Given the description of an element on the screen output the (x, y) to click on. 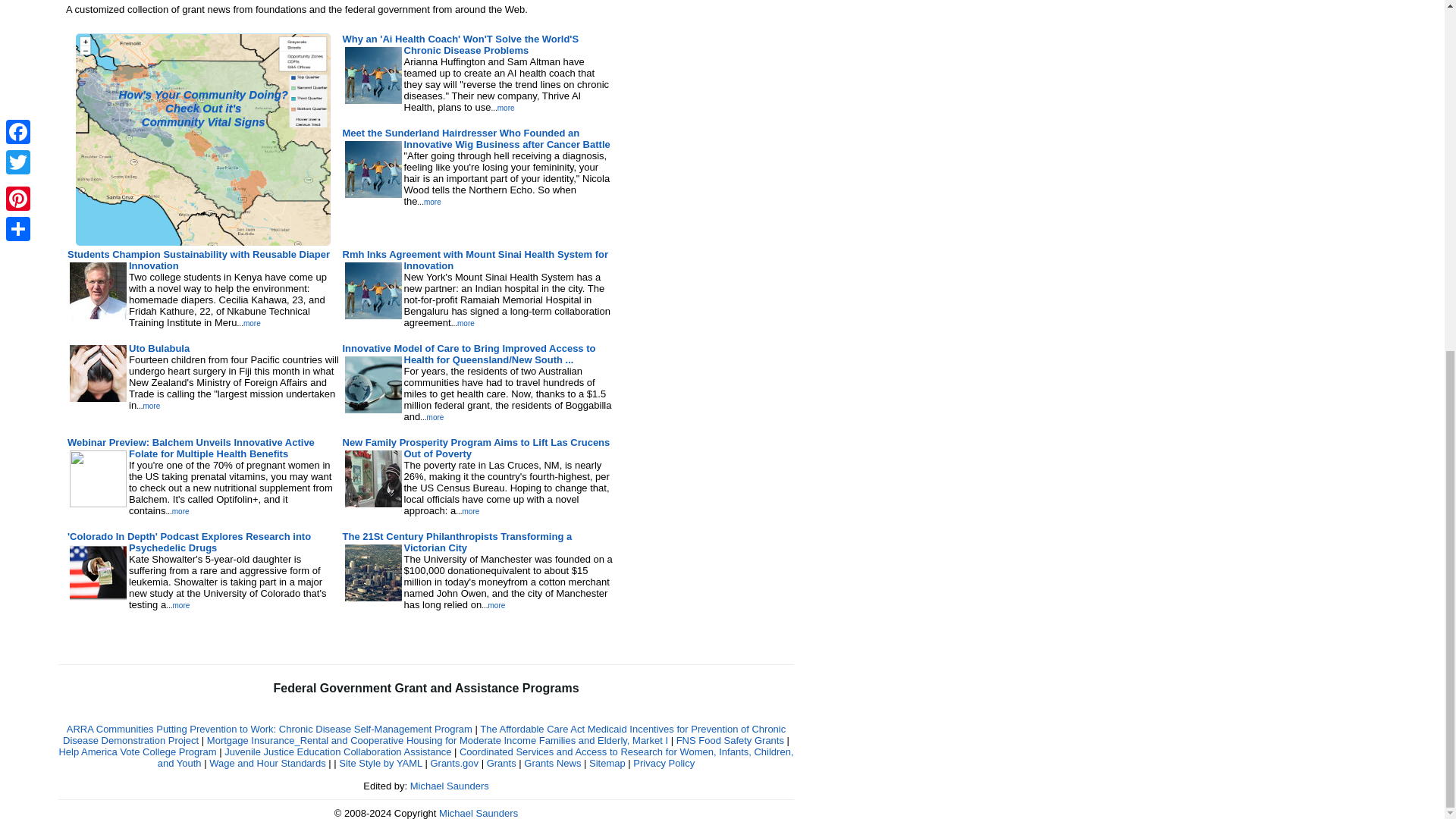
more (432, 202)
Help America Vote College Program (136, 751)
more (181, 605)
more (251, 323)
more (496, 605)
more (435, 417)
more (506, 108)
more (151, 406)
